Given the description of an element on the screen output the (x, y) to click on. 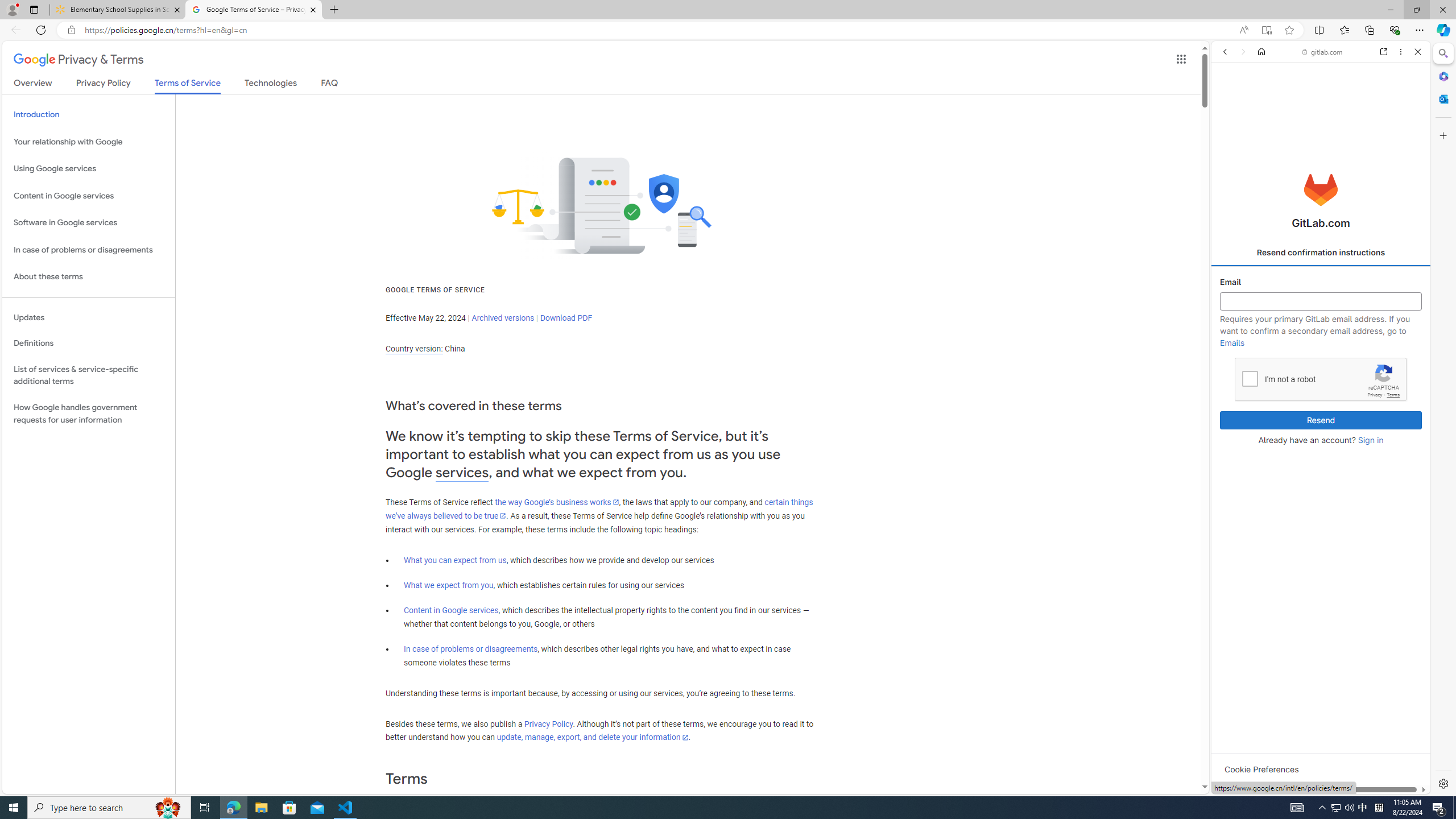
gitlab.com (1323, 51)
Definitions (88, 343)
About GitLab (1320, 337)
View details (1379, 554)
Resend confirmation instructions (1321, 252)
List of services & service-specific additional terms (88, 375)
